Given the description of an element on the screen output the (x, y) to click on. 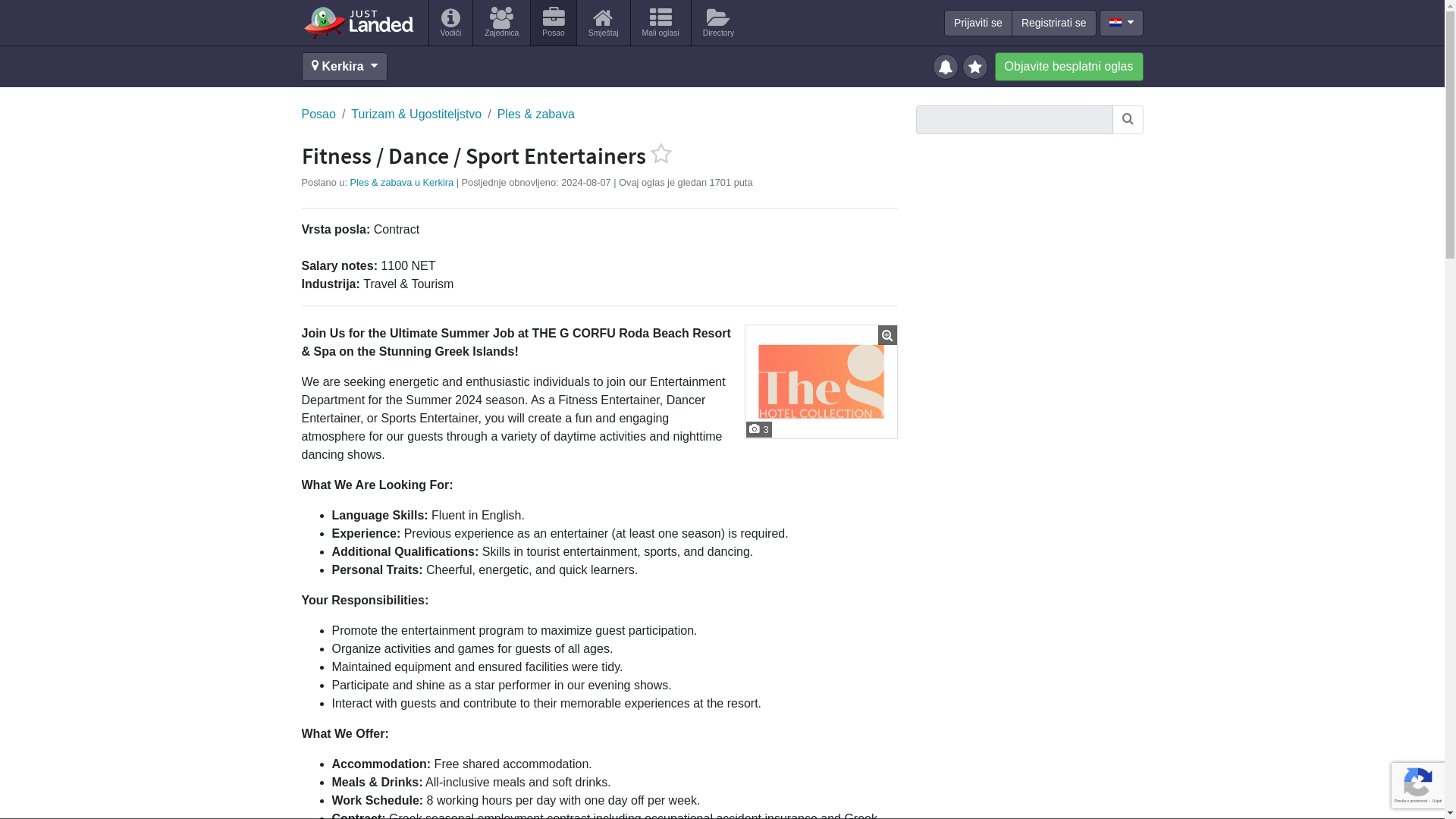
Posao u Kerkira (553, 22)
Directory u Kerkira (718, 22)
3 (821, 381)
Zajednica (501, 22)
Directory (718, 22)
Zajednica u Kerkira (501, 22)
Registrirati se (1053, 22)
Alerts (947, 65)
Mali oglasi (660, 22)
Prijaviti se (977, 22)
